Given the description of an element on the screen output the (x, y) to click on. 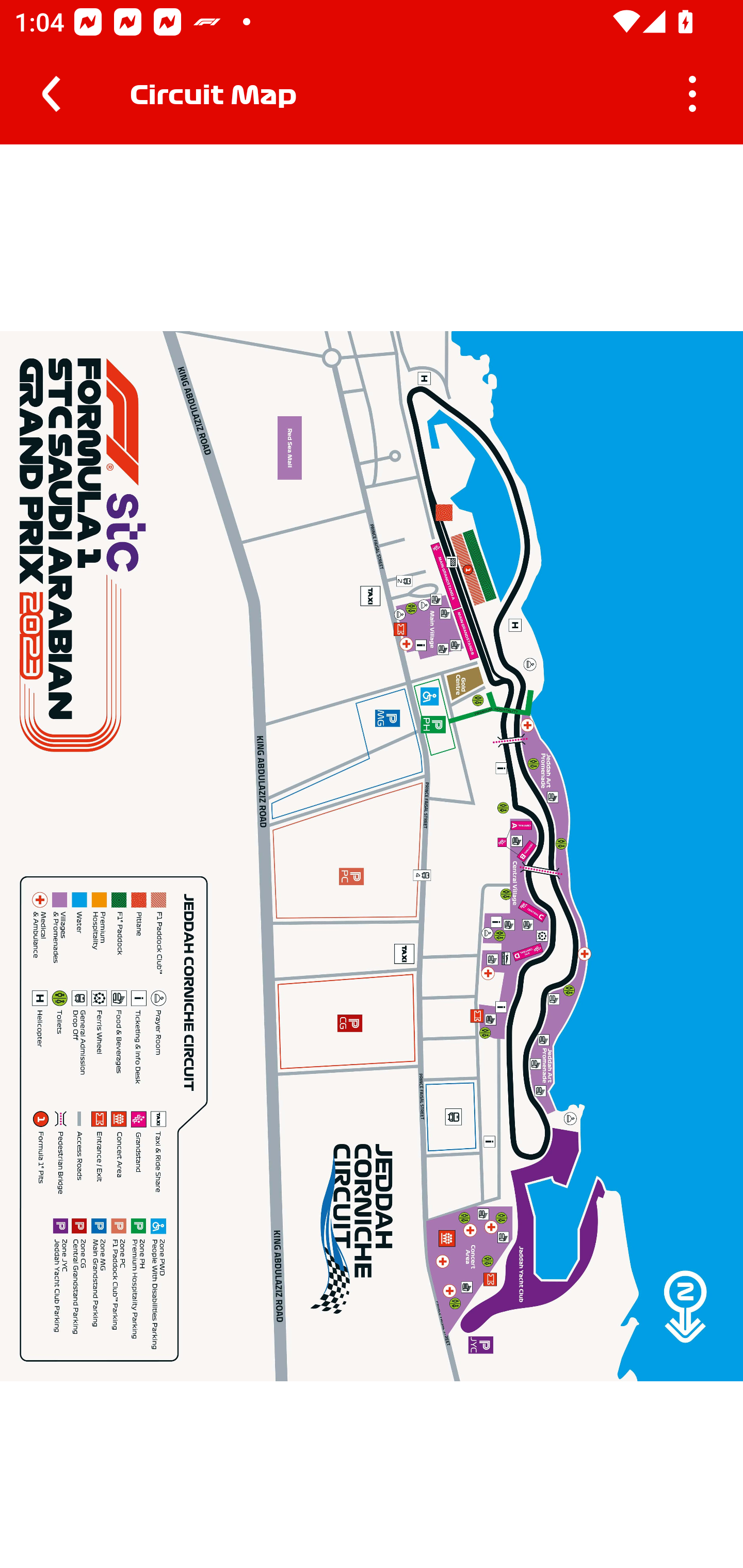
Navigate up (50, 93)
